Given the description of an element on the screen output the (x, y) to click on. 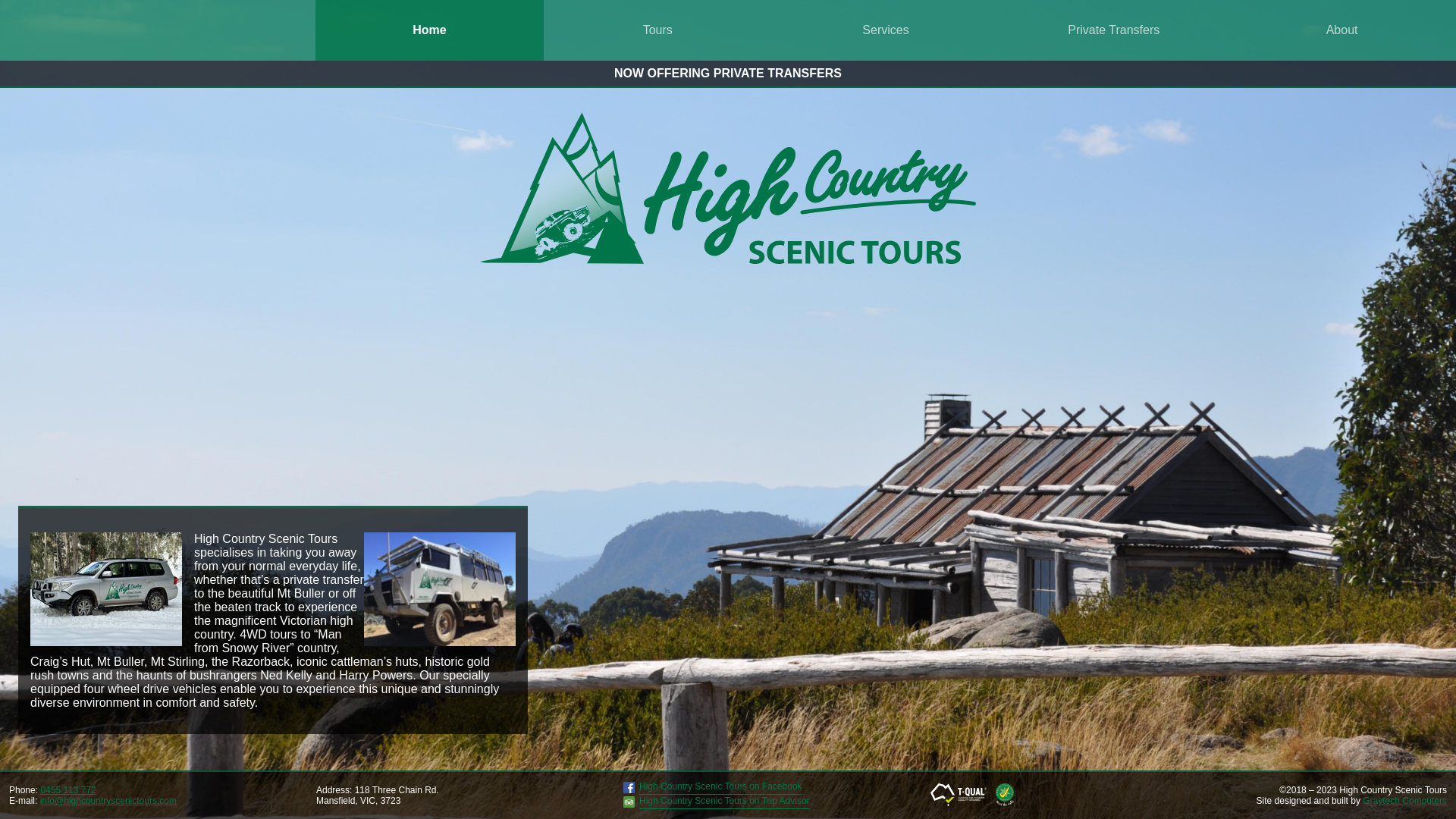
High Country Scenic Tours on Trip Advisor Element type: text (716, 804)
NOW OFFERING PRIVATE TRANSFERS Element type: text (727, 72)
Private Transfers Element type: text (1113, 30)
Graytech Computers Element type: text (1404, 800)
0455 113 772 Element type: text (67, 789)
Tours Element type: text (657, 30)
Services Element type: text (885, 30)
info@highcountryscenictours.com Element type: text (108, 800)
High Country Scenic Tours on Facebook Element type: text (712, 789)
